Given the description of an element on the screen output the (x, y) to click on. 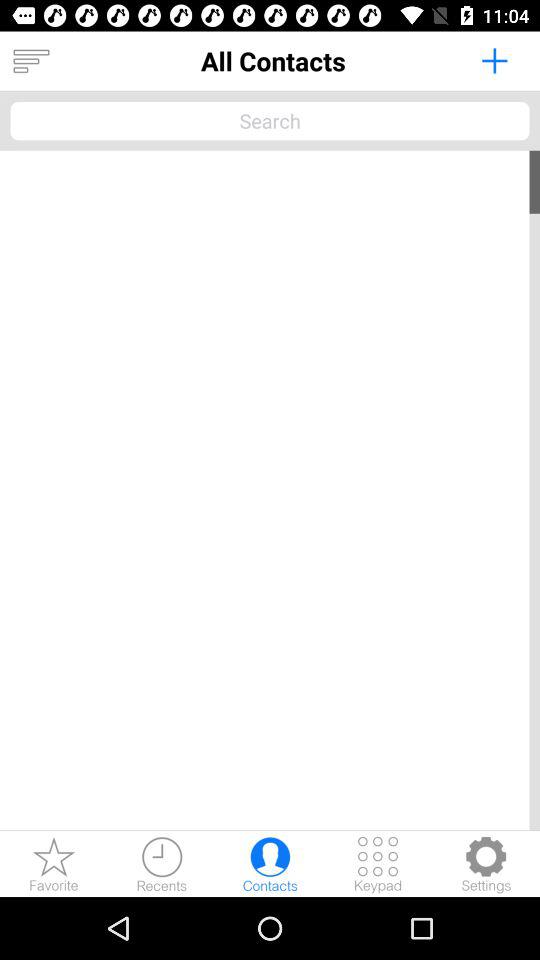
look at favorites (53, 864)
